Given the description of an element on the screen output the (x, y) to click on. 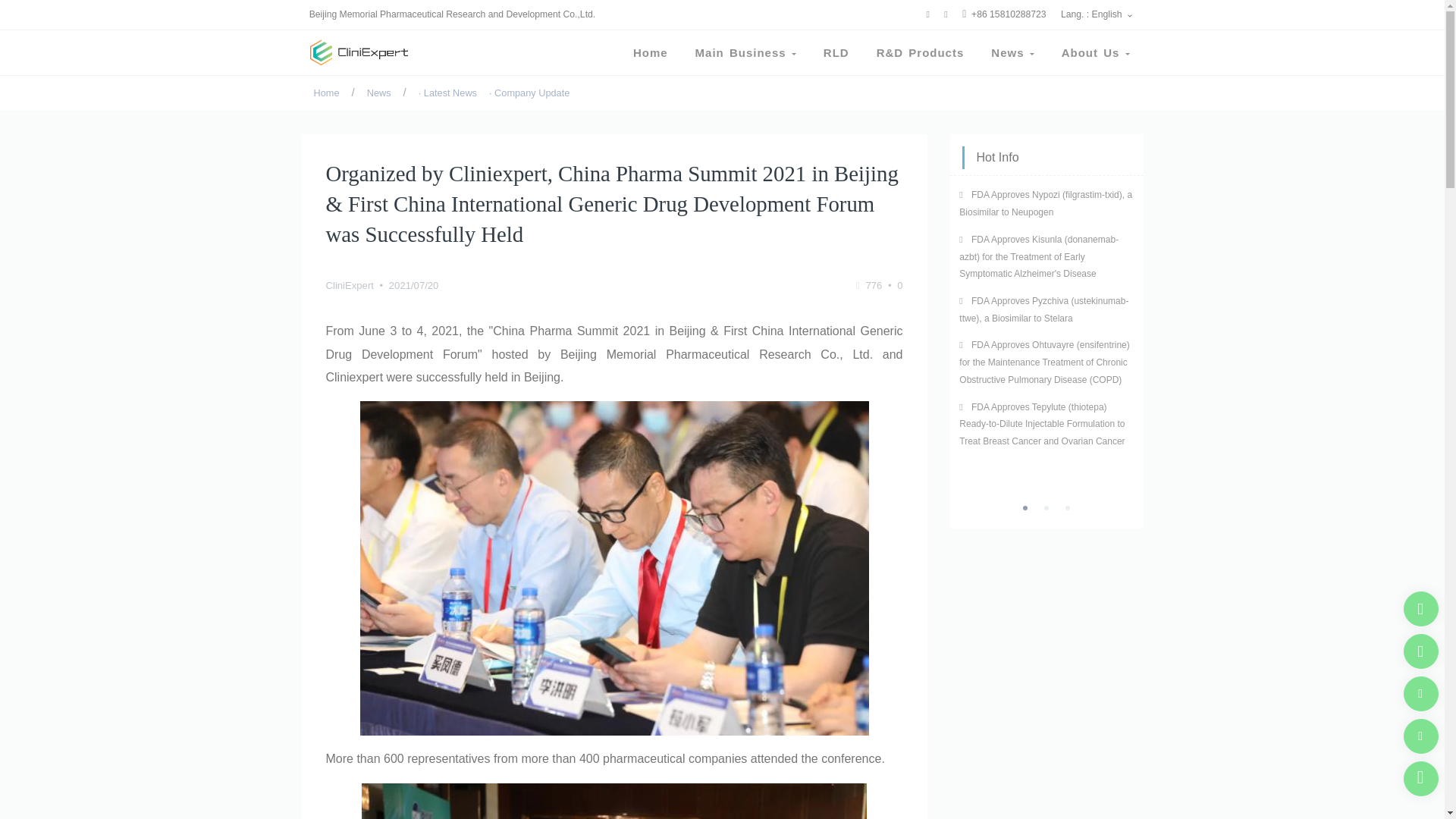
Main Business (745, 52)
Home (650, 52)
RLD (836, 52)
News (1011, 52)
News (379, 92)
About Us (1095, 52)
Home (326, 92)
